Given the description of an element on the screen output the (x, y) to click on. 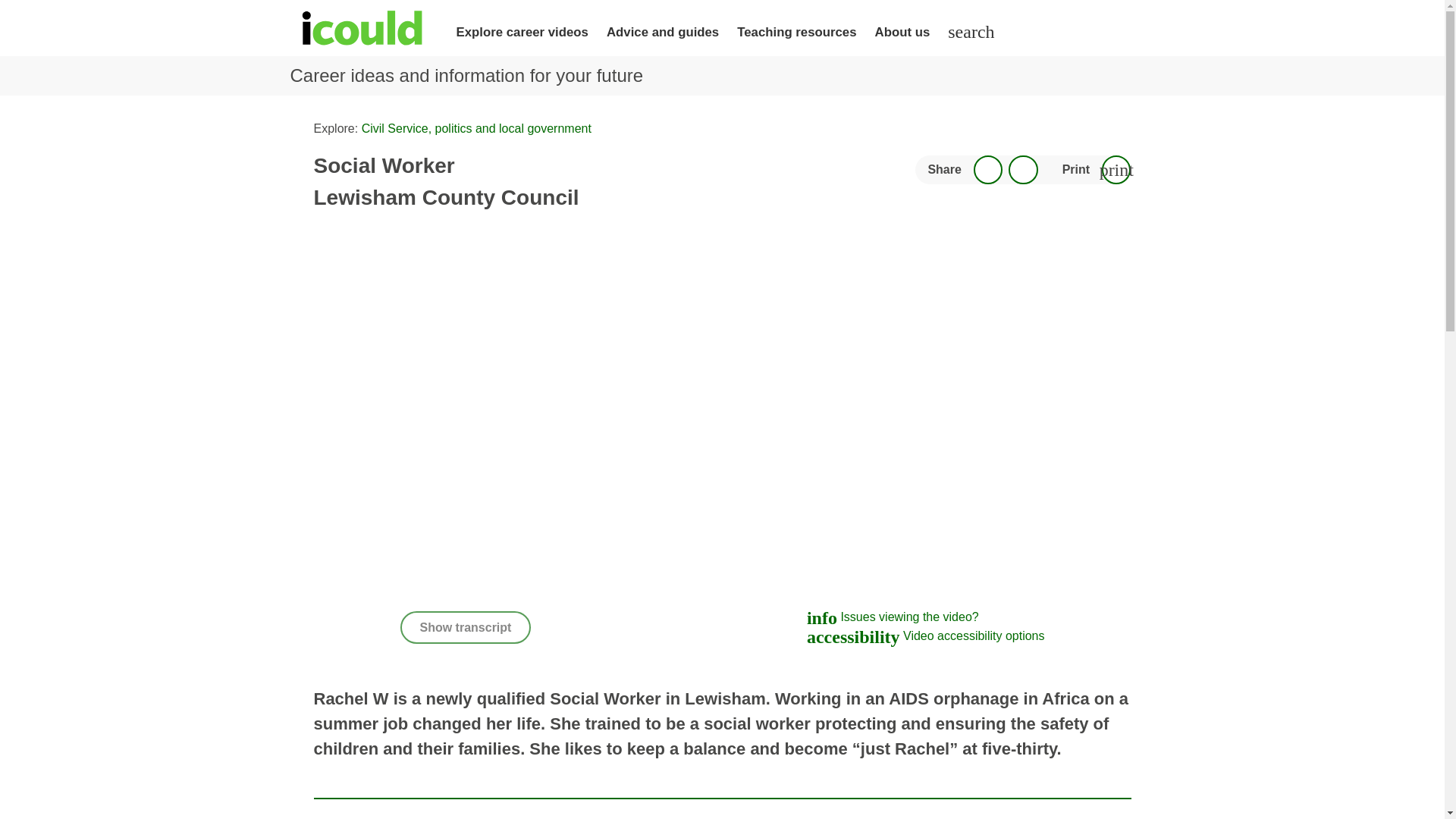
Teaching resources (796, 32)
About us (902, 32)
Explore career videos (521, 32)
Advice and guides (662, 32)
search (971, 32)
